Given the description of an element on the screen output the (x, y) to click on. 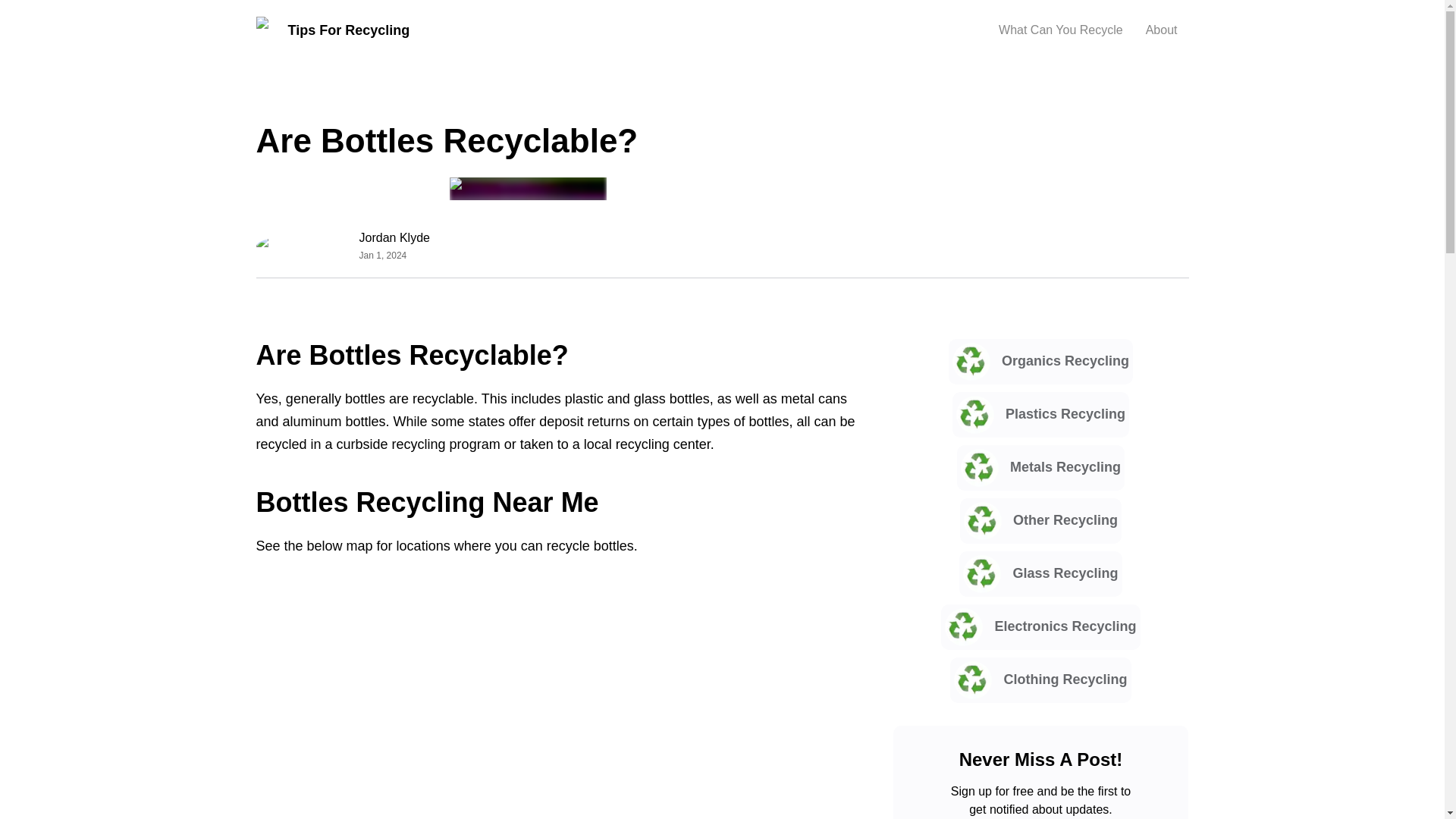
Jordan Klyde (394, 237)
What Can You Recycle (1060, 30)
Tips For Recycling (333, 30)
